Given the description of an element on the screen output the (x, y) to click on. 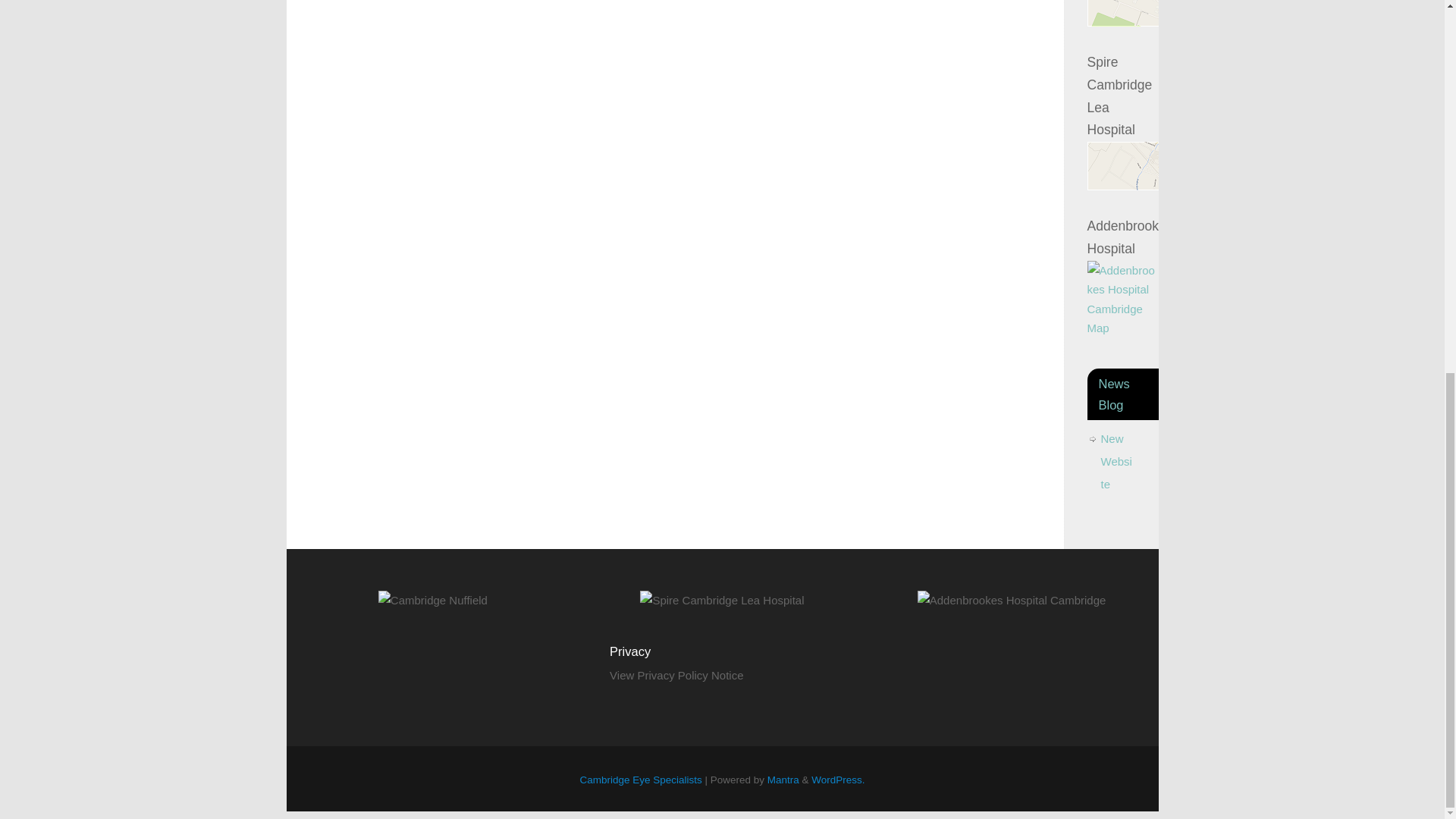
Mantra Theme by Cryout Creations (783, 779)
View Privacy Policy Notice (676, 675)
WordPress. (837, 779)
Semantic Personal Publishing Platform (837, 779)
Cambridge Eye Specialists (640, 779)
Cambridge Eye Specialists (640, 779)
Mantra (783, 779)
